Given the description of an element on the screen output the (x, y) to click on. 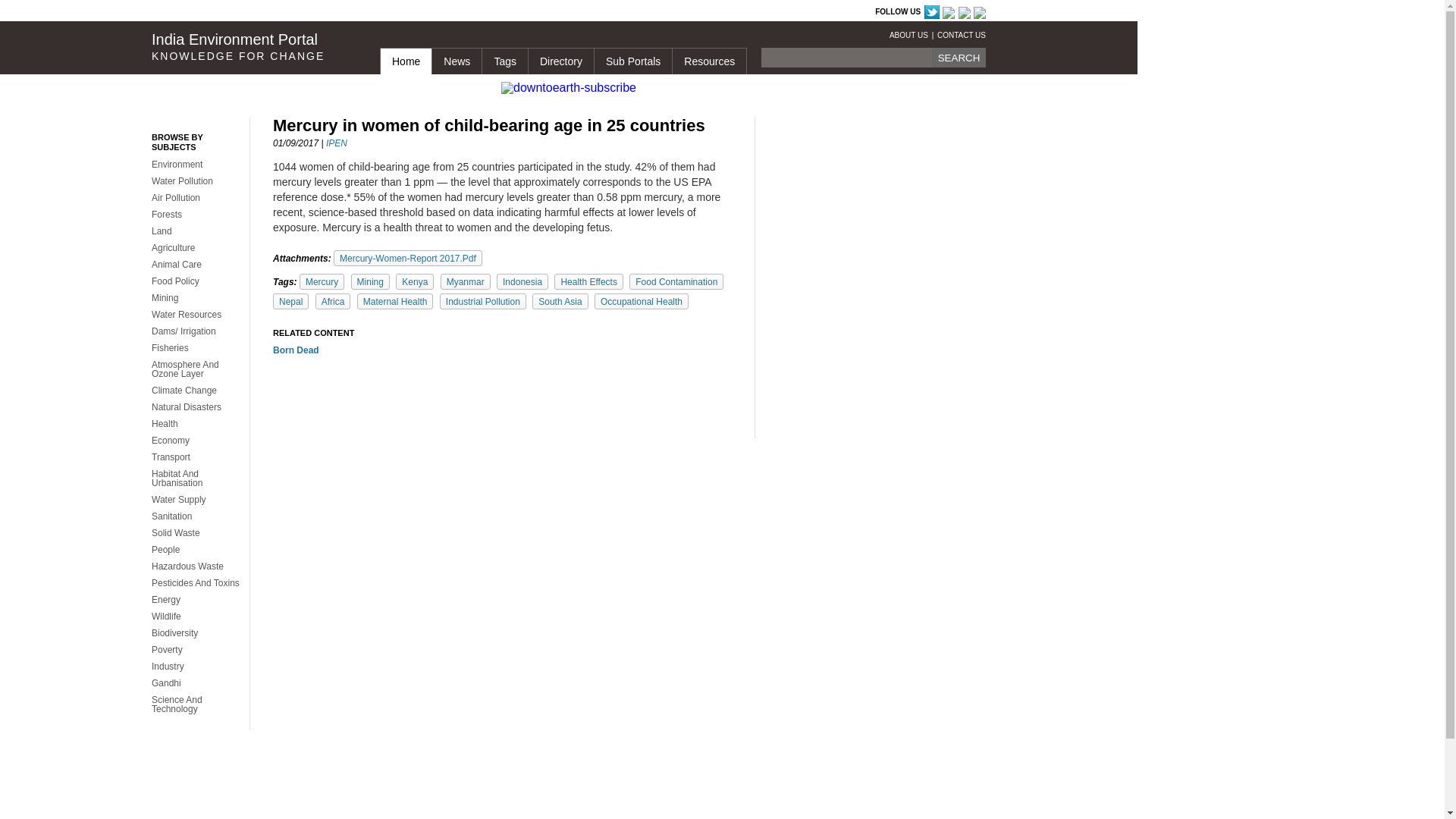
Renewable Energy (631, 11)
Down to Earth (311, 11)
News (455, 60)
Rain Water Harvesting (418, 11)
CSE Store (500, 11)
CSE (256, 11)
Tags (504, 60)
Sub Portals (632, 60)
Directory (560, 60)
Resources (708, 60)
